Given the description of an element on the screen output the (x, y) to click on. 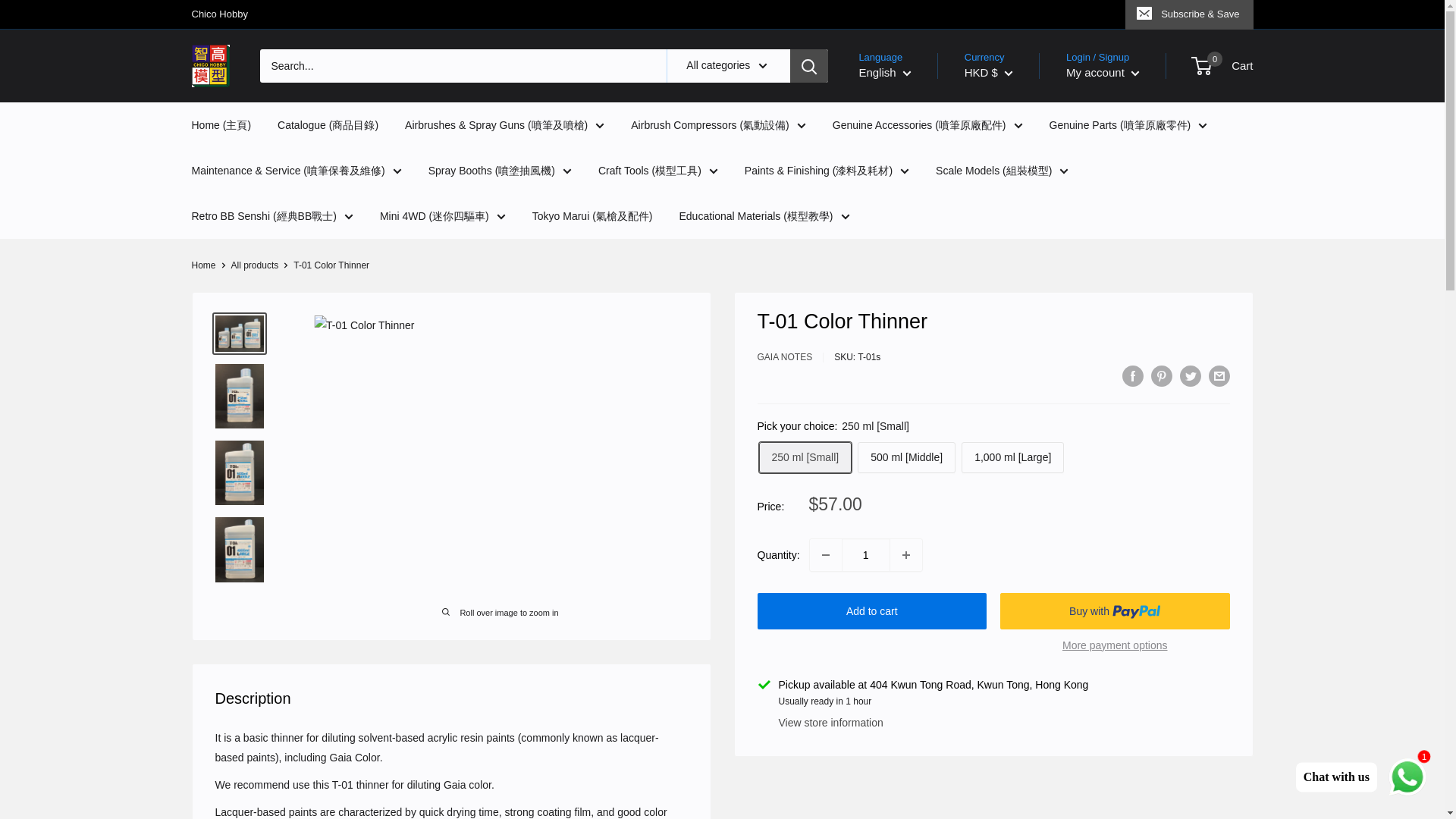
Increase quantity by 1 (905, 554)
1 (865, 554)
Decrease quantity by 1 (825, 554)
